Given the description of an element on the screen output the (x, y) to click on. 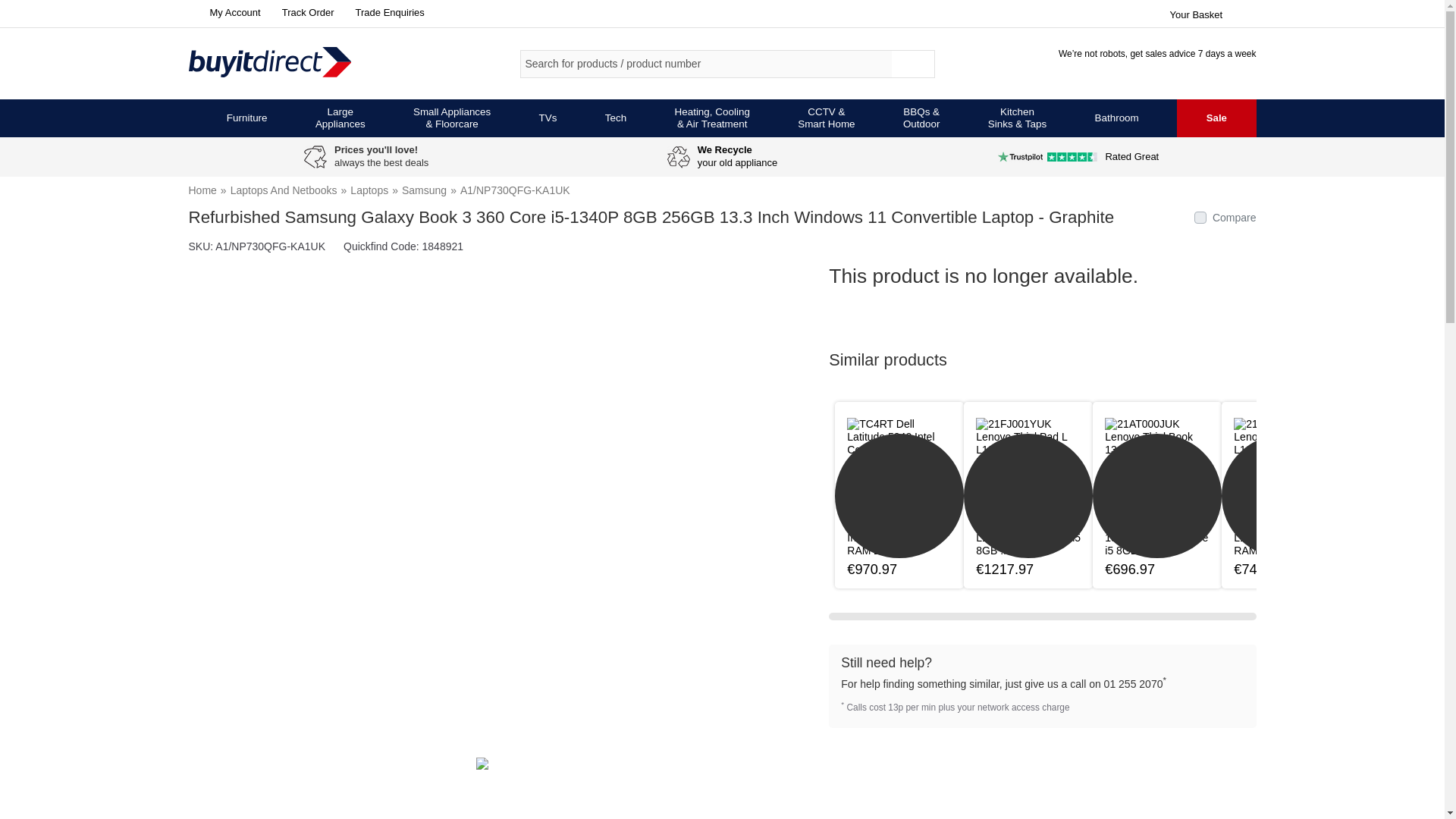
Trade Enquiries (387, 12)
But it Direct Order Tracking (305, 12)
Your basket contains (1212, 12)
Buy it Direct (294, 63)
My Account (223, 12)
Furniture (247, 118)
Trade Enquiries (387, 12)
Search (912, 63)
